Given the description of an element on the screen output the (x, y) to click on. 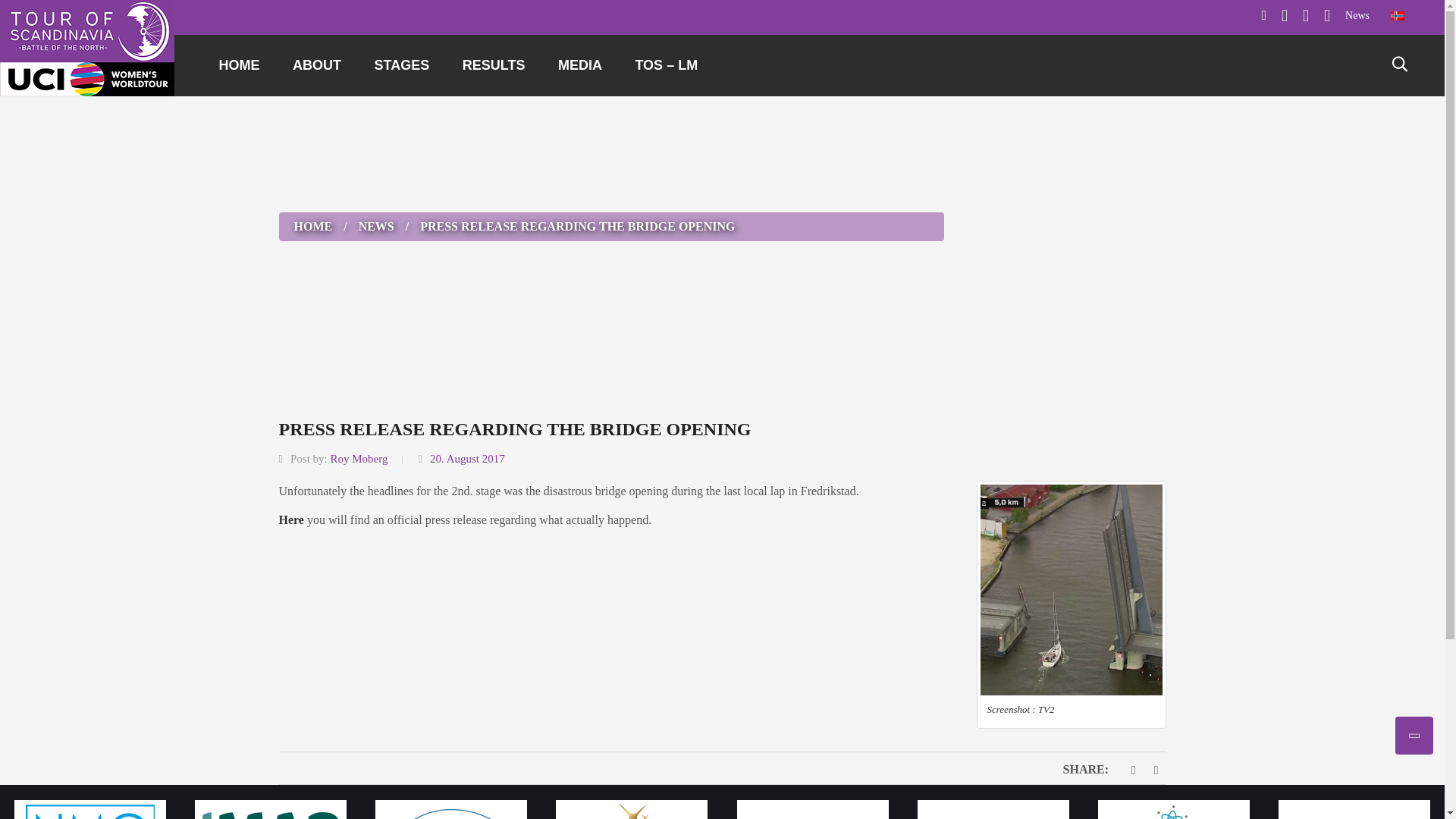
YouTube (1327, 21)
RESULTS (493, 64)
Twitter (1284, 21)
Facebook (1263, 19)
MEDIA (580, 64)
STAGES (402, 64)
ABOUT (317, 64)
Instagram (1305, 21)
News (1357, 15)
HOME (239, 64)
